Given the description of an element on the screen output the (x, y) to click on. 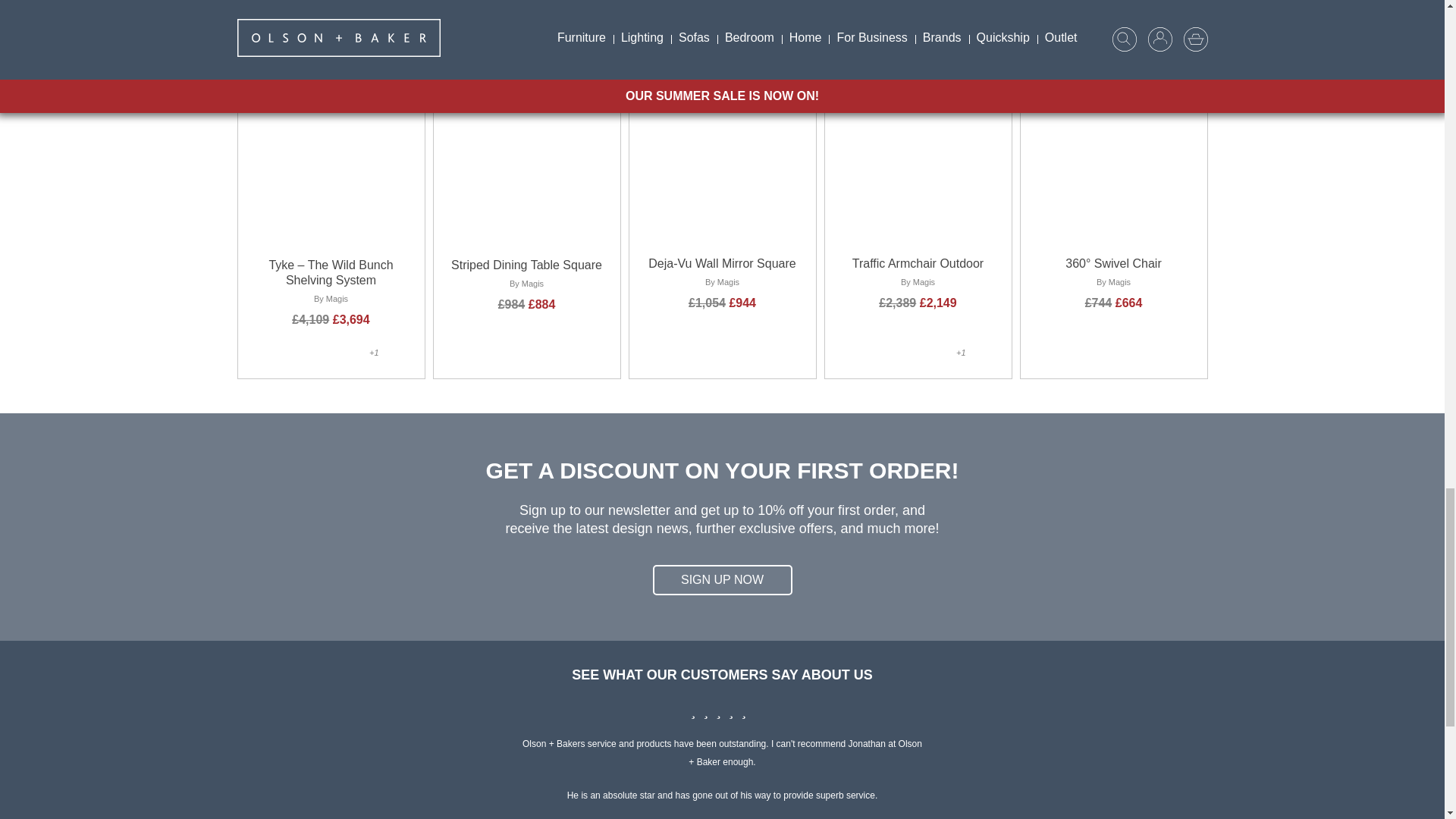
Magis - 5269 Sand Beige Metal (357, 356)
